Given the description of an element on the screen output the (x, y) to click on. 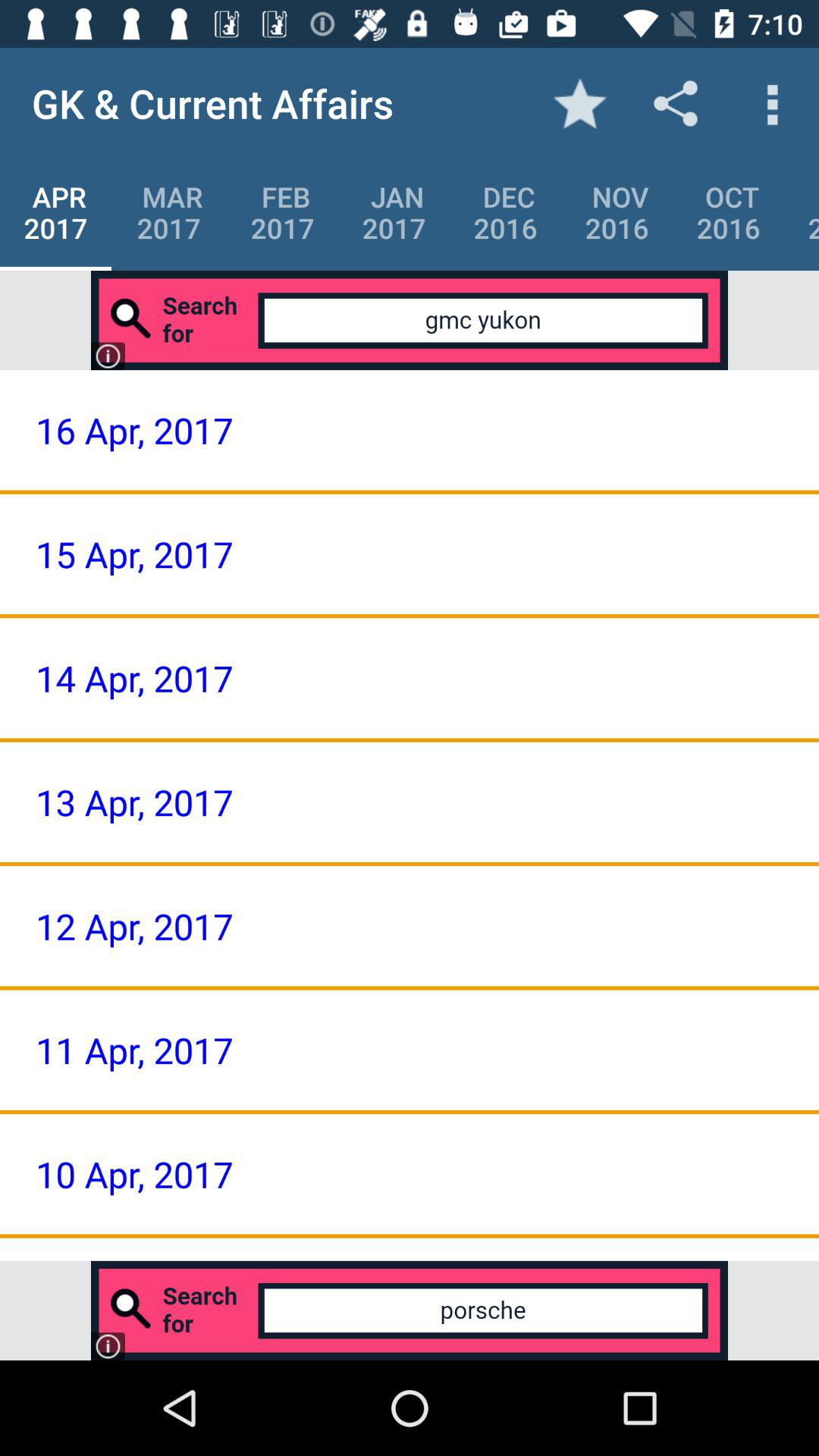
tap item to the left of  sep
2016 item (728, 212)
